Given the description of an element on the screen output the (x, y) to click on. 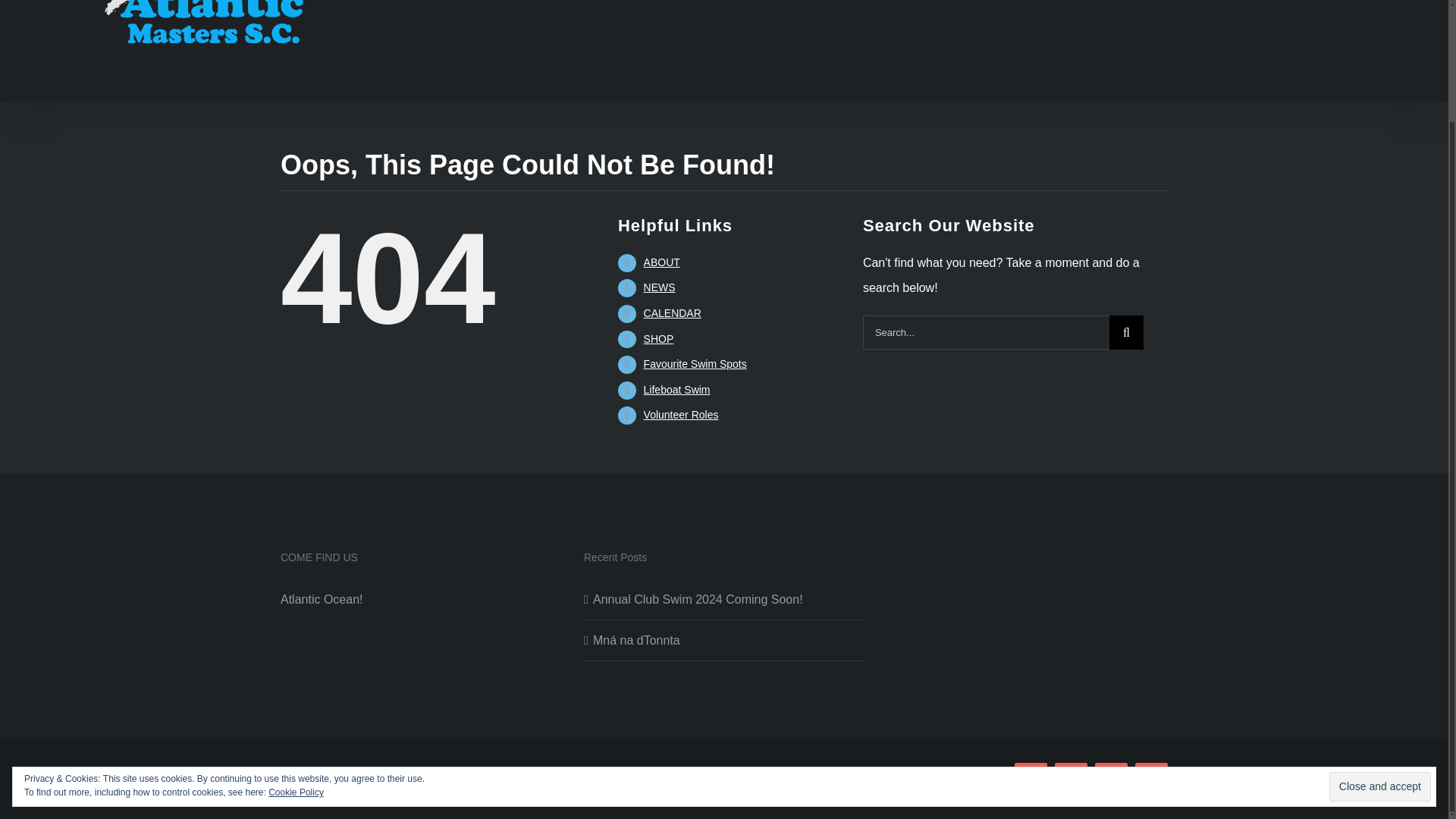
Close and accept (1380, 650)
CALENDAR (672, 313)
Swim Spots (694, 363)
